Given the description of an element on the screen output the (x, y) to click on. 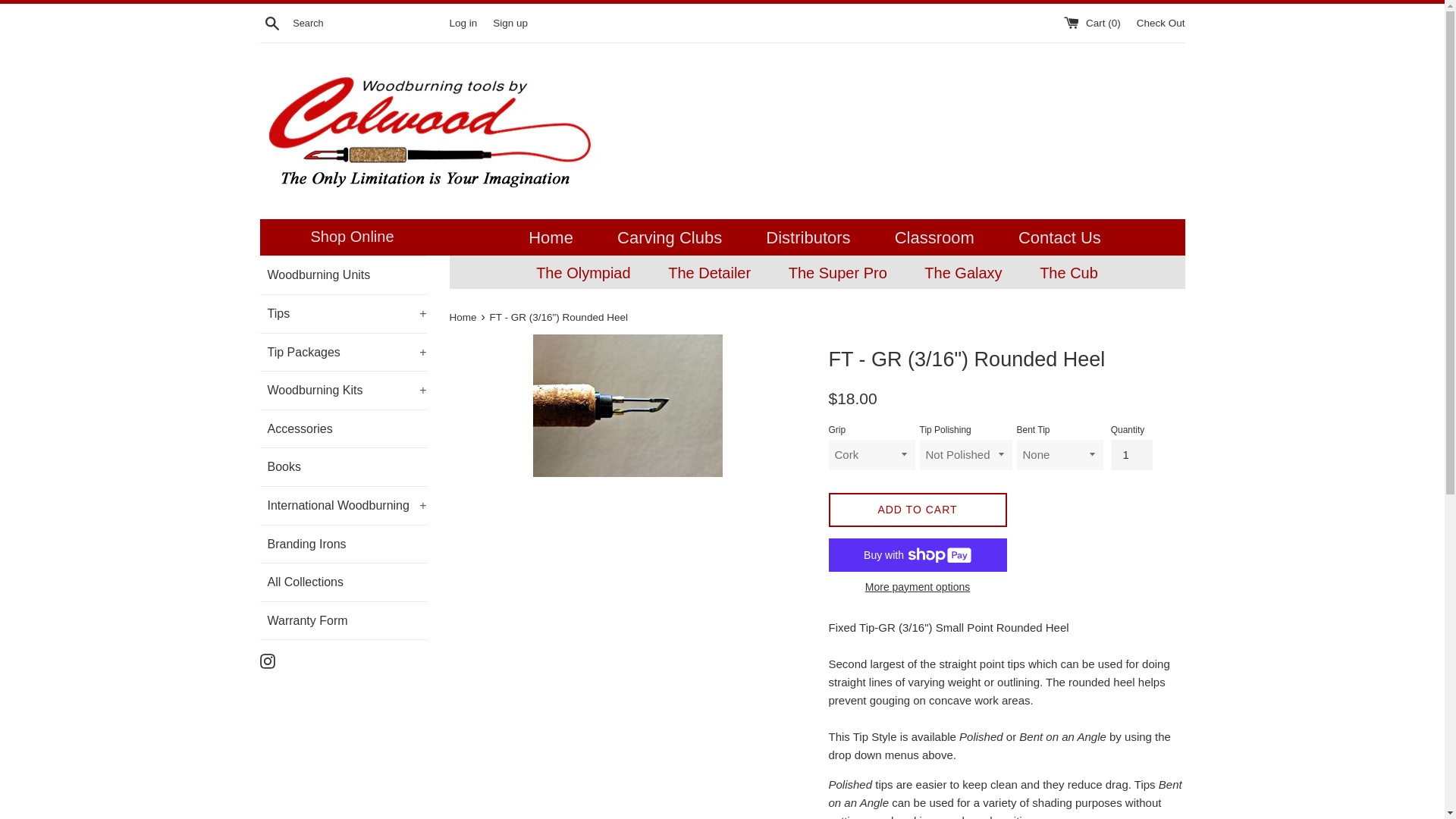
The Detailer (708, 273)
Accessories (346, 428)
The Olympiad (583, 273)
Home (550, 237)
The Galaxy (962, 273)
Books (346, 466)
Contact Us (1059, 237)
1 (1131, 454)
Log in (462, 21)
Shop Online (351, 236)
The Super Pro (837, 273)
Classroom (934, 237)
Check Out (1161, 21)
Warranty Form (346, 620)
Back to the frontpage (463, 317)
